Given the description of an element on the screen output the (x, y) to click on. 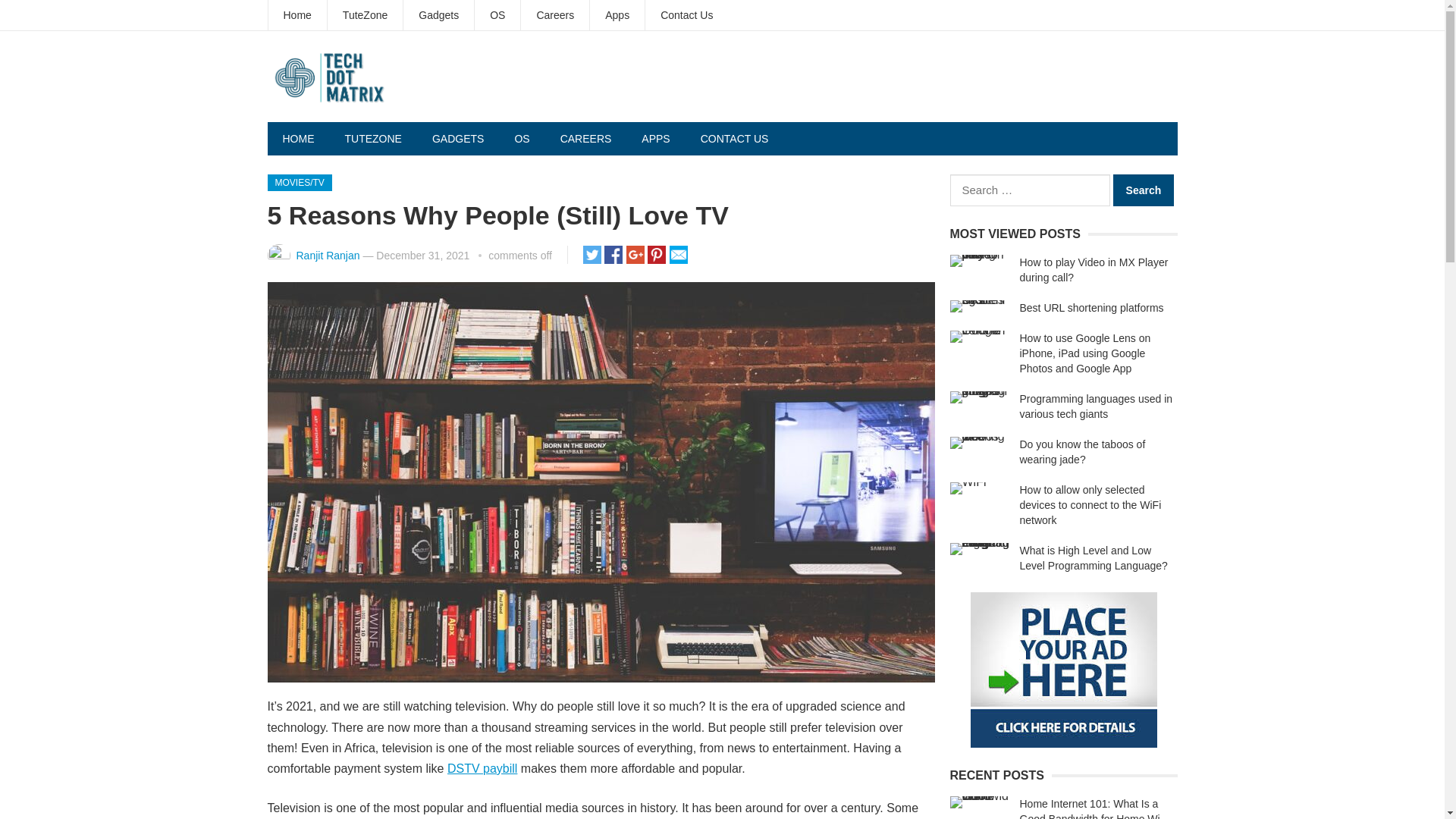
HOME (297, 138)
CAREERS (585, 138)
Posts by Ranjit Ranjan (327, 255)
APPS (655, 138)
OS (496, 15)
GADGETS (457, 138)
Gadgets (438, 15)
Search (1143, 190)
Search (1143, 190)
TUTEZONE (372, 138)
CONTACT US (734, 138)
Careers (555, 15)
Apps (617, 15)
OS (521, 138)
Contact Us (686, 15)
